Given the description of an element on the screen output the (x, y) to click on. 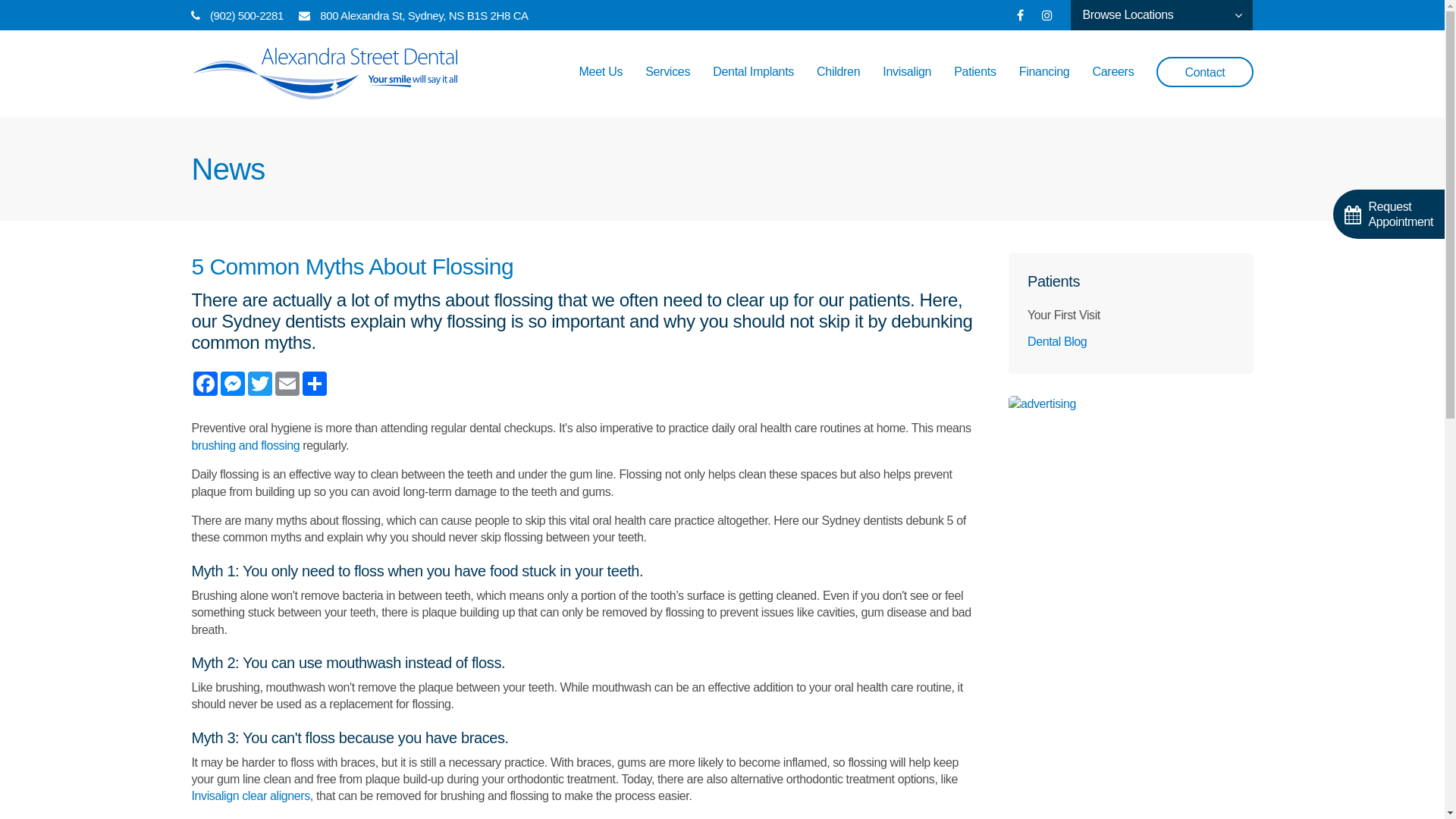
Facebook Element type: text (204, 383)
Invisalign clear aligners Element type: text (250, 795)
Your First Visit Element type: text (1130, 314)
brushing and flossing Element type: text (245, 445)
Twitter Element type: text (259, 383)
Patients Element type: text (974, 86)
Financing Element type: text (1044, 86)
Children Element type: text (838, 86)
Dental Blog Element type: text (1130, 341)
Request
Appointment Element type: text (1388, 213)
Contact Element type: text (1204, 71)
Invisalign Element type: text (906, 86)
Careers Element type: text (1112, 86)
Messenger Element type: text (231, 383)
Share Element type: text (313, 383)
Email Element type: text (286, 383)
Dental Implants Element type: text (753, 86)
Meet Us Element type: text (600, 86)
Services Element type: text (667, 86)
(902) 500-2281 Element type: text (246, 15)
